Given the description of an element on the screen output the (x, y) to click on. 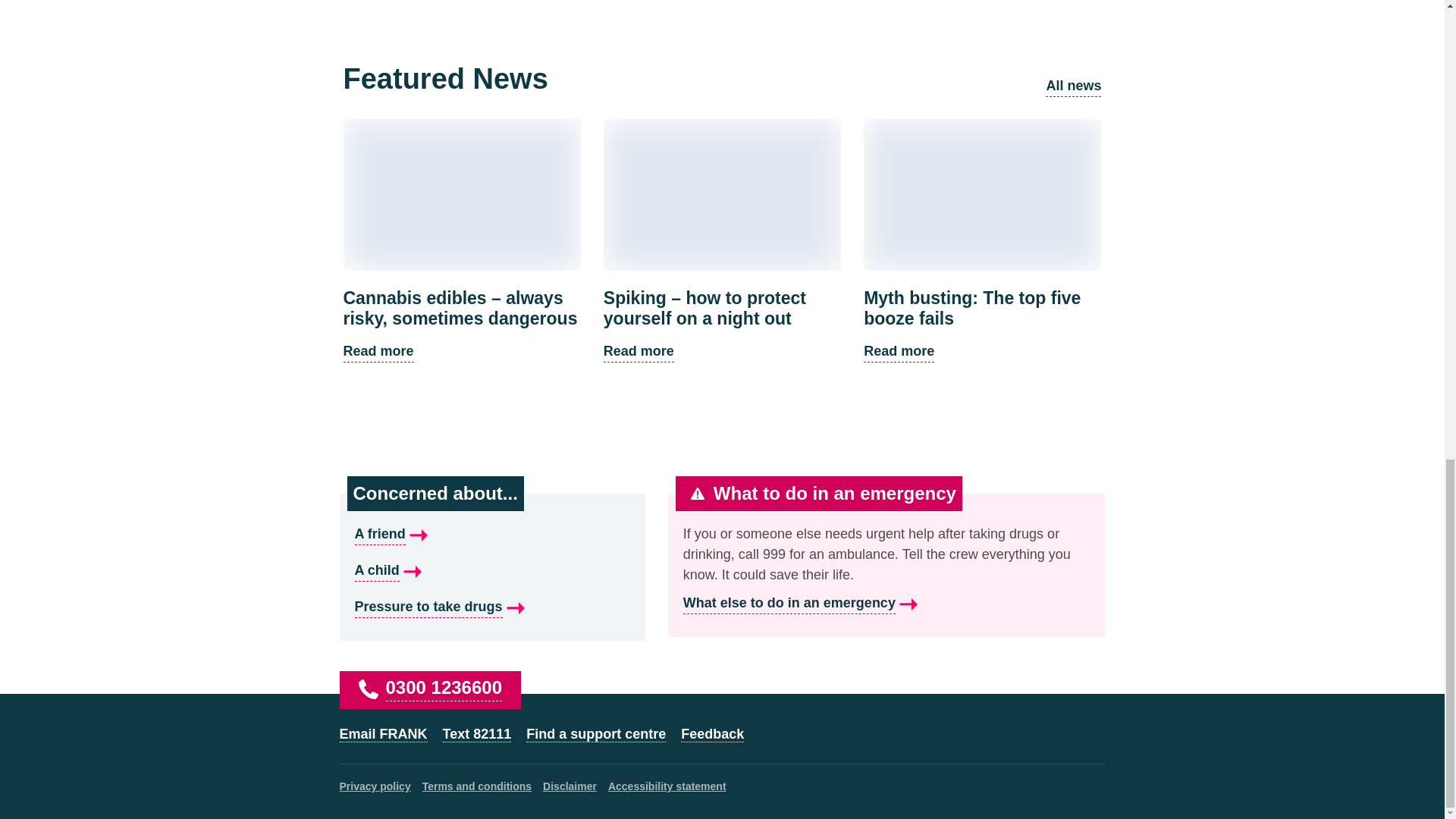
Email FRANK (383, 734)
Disclaimer (569, 786)
Pressure to take drugs (492, 607)
What else to do in an emergency (430, 687)
All news (886, 603)
A child (1072, 86)
Find a support centre (492, 570)
Text 82111 (595, 734)
Feedback (477, 734)
